Given the description of an element on the screen output the (x, y) to click on. 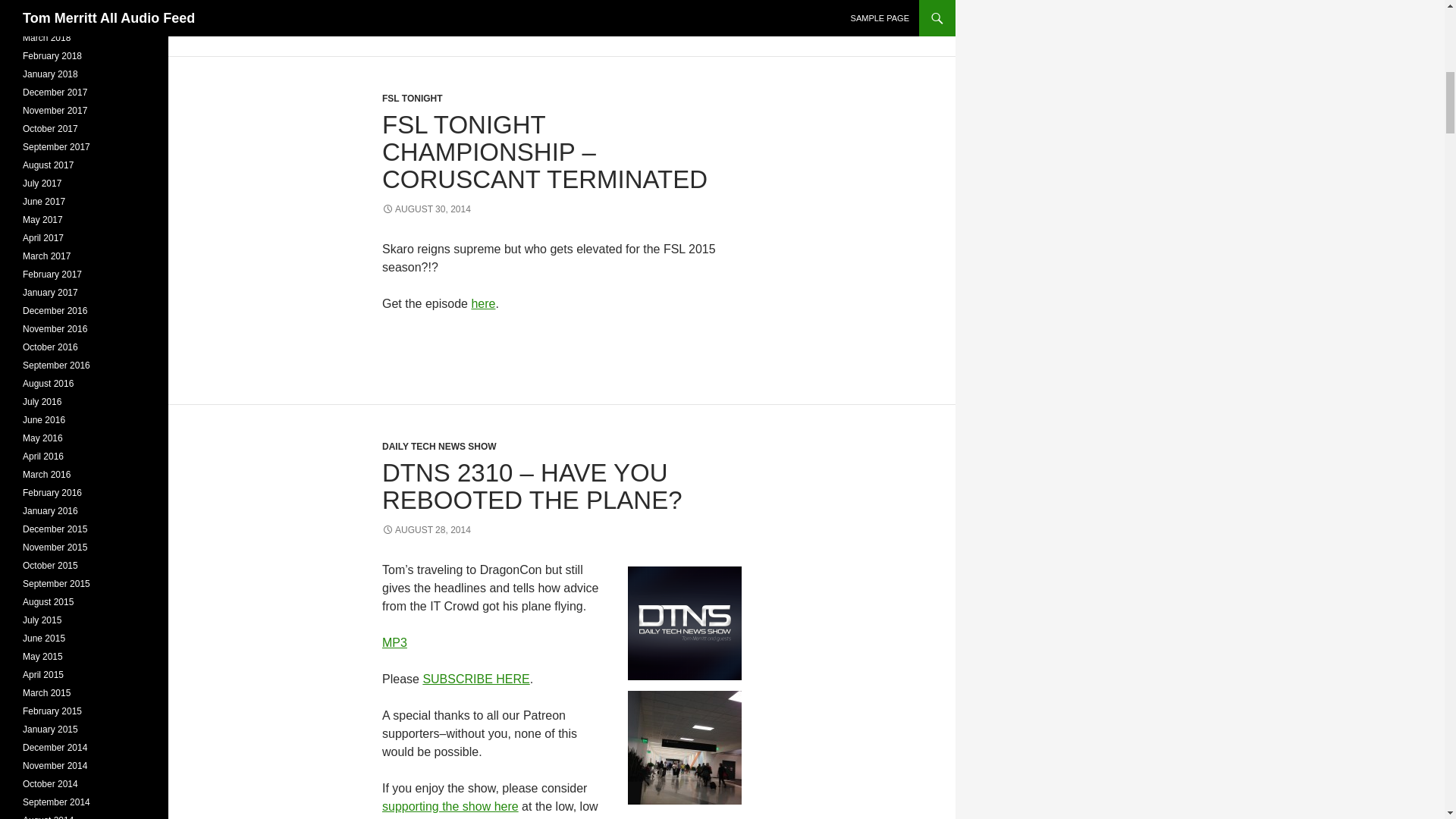
FSL TONIGHT (411, 98)
SUBSCRIBE HERE (475, 678)
Patreon (536, 818)
DAILY TECH NEWS SHOW (438, 446)
supporting the show here (449, 806)
here (482, 303)
MP3 (394, 642)
AUGUST 30, 2014 (425, 208)
AUGUST 28, 2014 (425, 529)
